Given the description of an element on the screen output the (x, y) to click on. 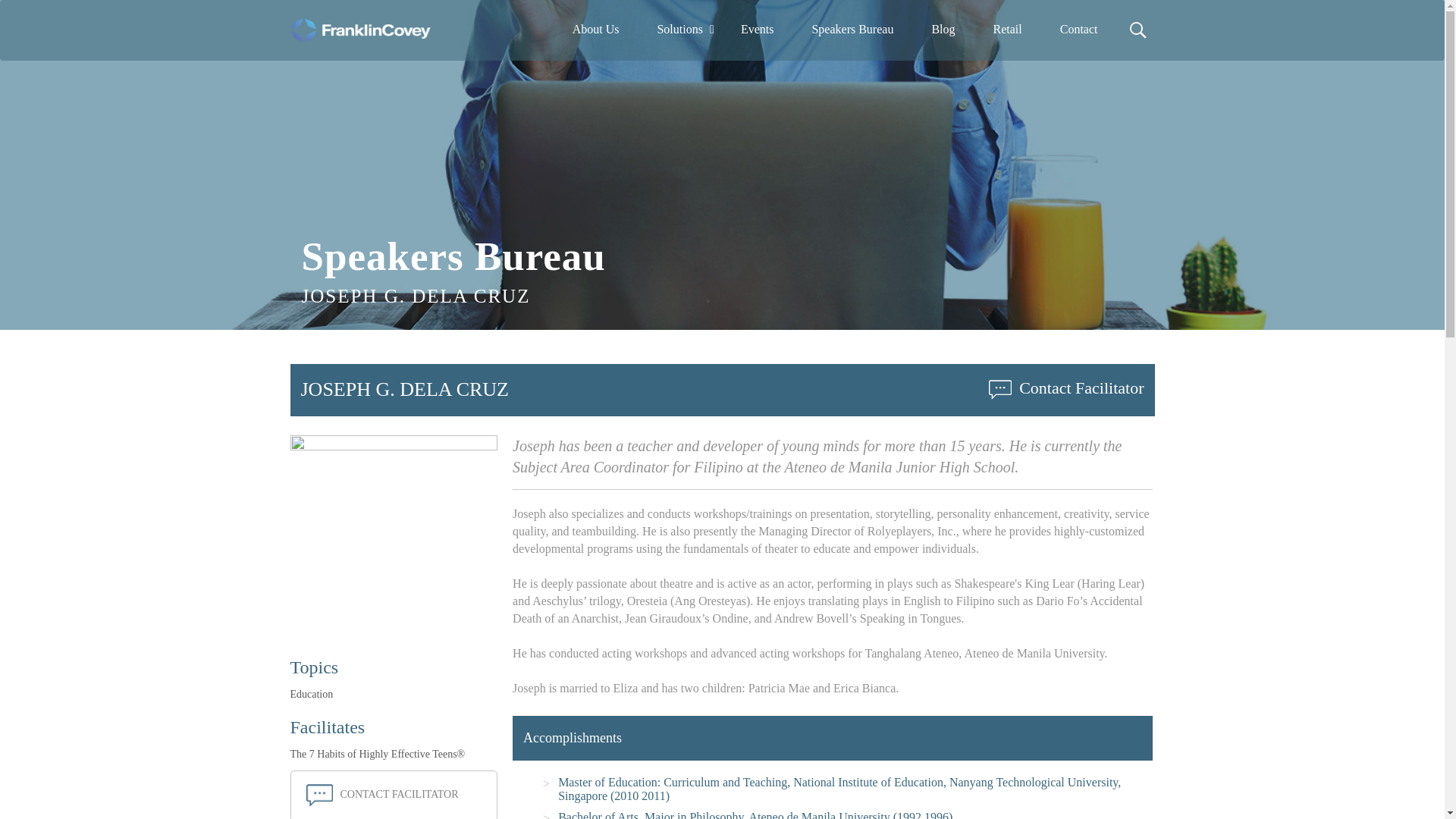
Blog (943, 29)
Education (311, 694)
Speakers Bureau (851, 29)
Events (757, 29)
Solutions (679, 29)
JOSEPH G. DELA CRUZ (403, 389)
Contact Facilitator (1065, 387)
CONTACT FACILITATOR (381, 794)
Retail (1007, 29)
About Us (595, 29)
